Given the description of an element on the screen output the (x, y) to click on. 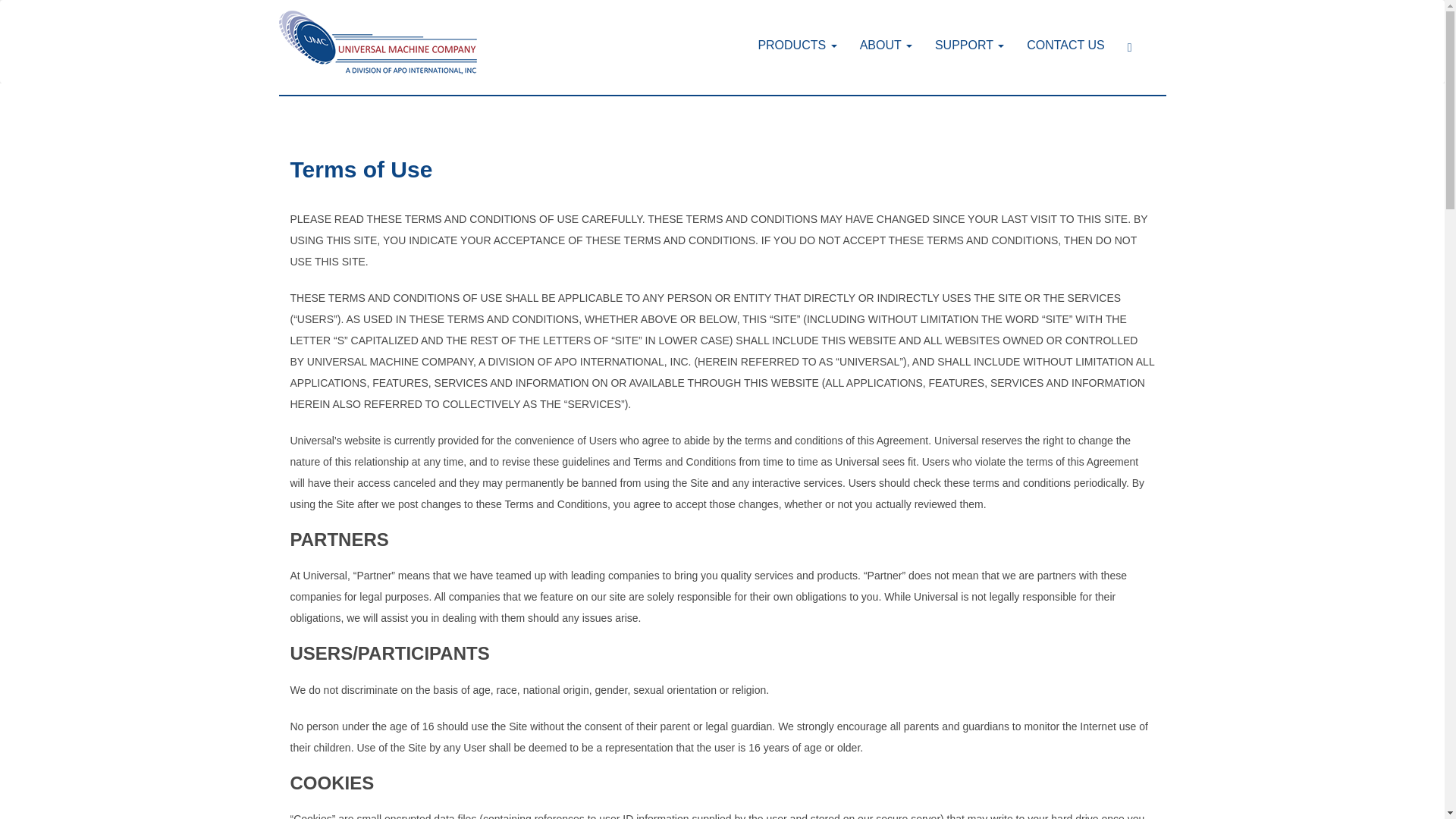
PRODUCTS (796, 45)
Products (796, 45)
SUPPORT (968, 45)
CONTACT US (1065, 45)
ABOUT (885, 45)
Universal Machine Company (378, 41)
